Given the description of an element on the screen output the (x, y) to click on. 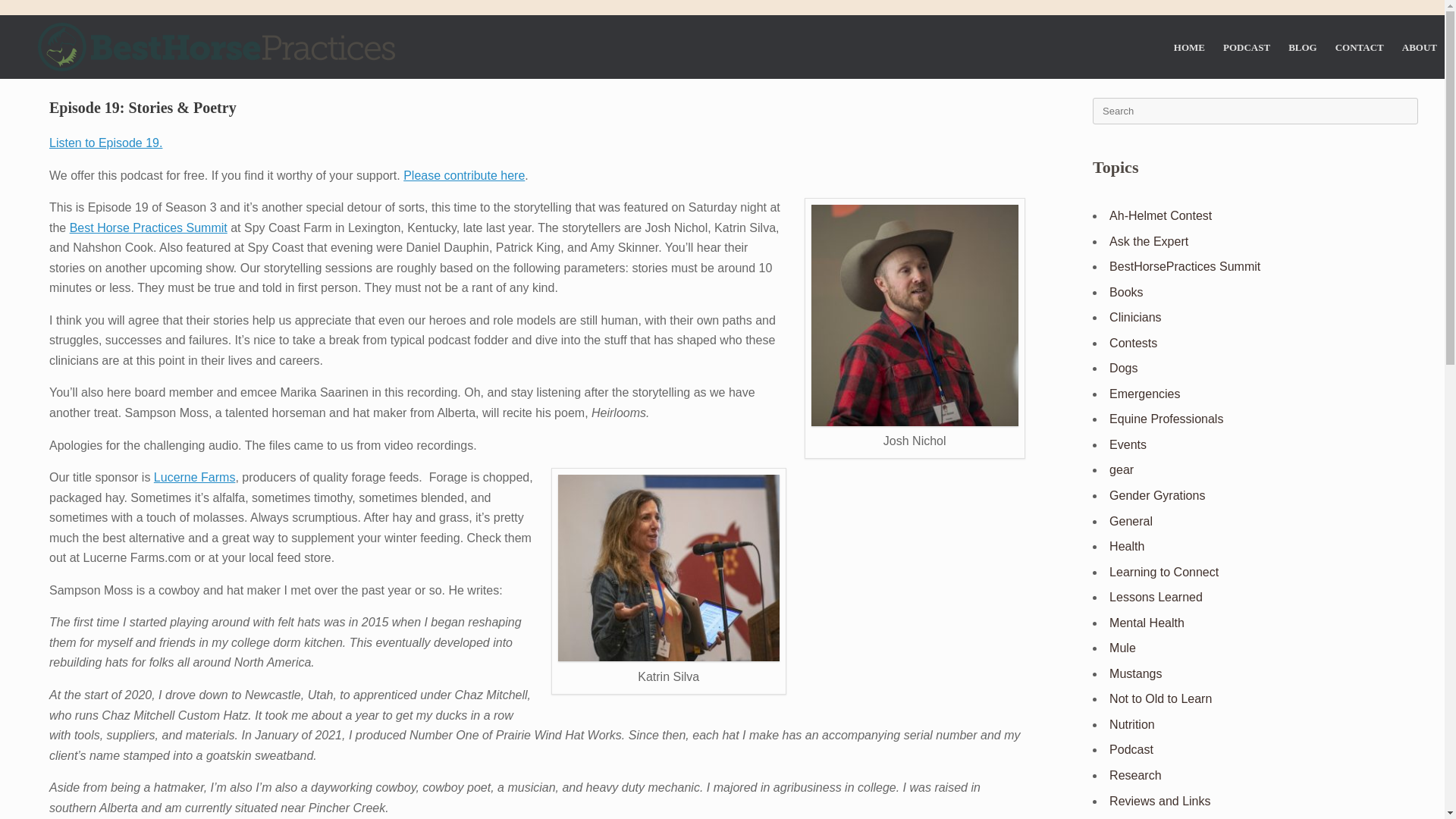
Gender Gyrations (1157, 495)
Clinicians (1134, 317)
Books (1125, 291)
Events (1128, 444)
CONTACT (1359, 46)
Lucerne Farms (194, 477)
Best Horse Practices Summit (148, 227)
Dogs (1123, 367)
HOME (1189, 46)
Best Horse Practices (215, 46)
Equine Professionals (1166, 418)
Emergencies (1144, 393)
Contests (1133, 342)
Listen to Episode 19. (105, 142)
BestHorsePractices Summit (1184, 266)
